Given the description of an element on the screen output the (x, y) to click on. 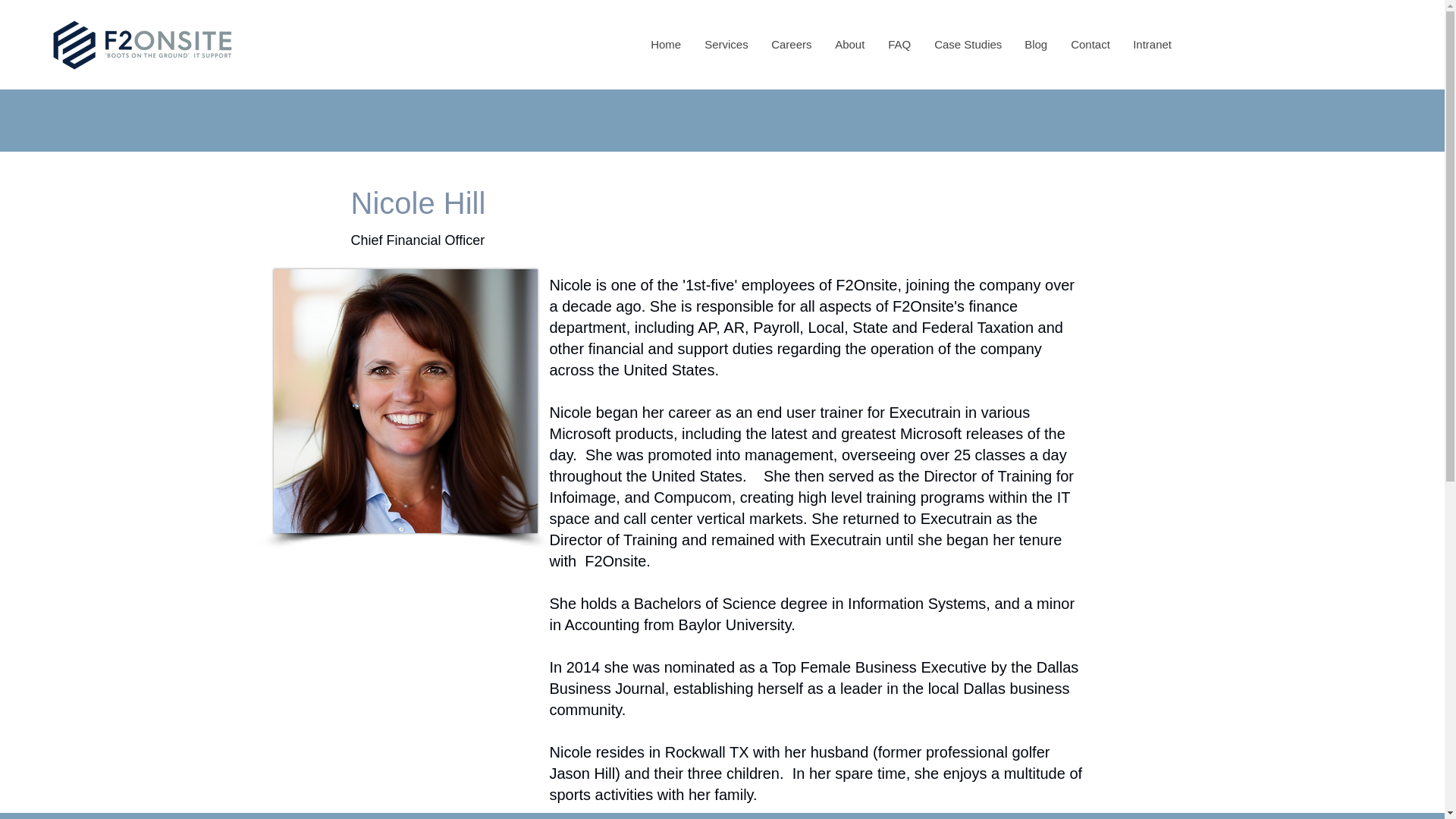
Home (666, 44)
Intranet (1150, 44)
FAQ (898, 44)
About (849, 44)
Services (725, 44)
Angelo Simao (405, 401)
Contact (1089, 44)
Case Studies (966, 44)
Blog (1034, 44)
Careers (790, 44)
